Given the description of an element on the screen output the (x, y) to click on. 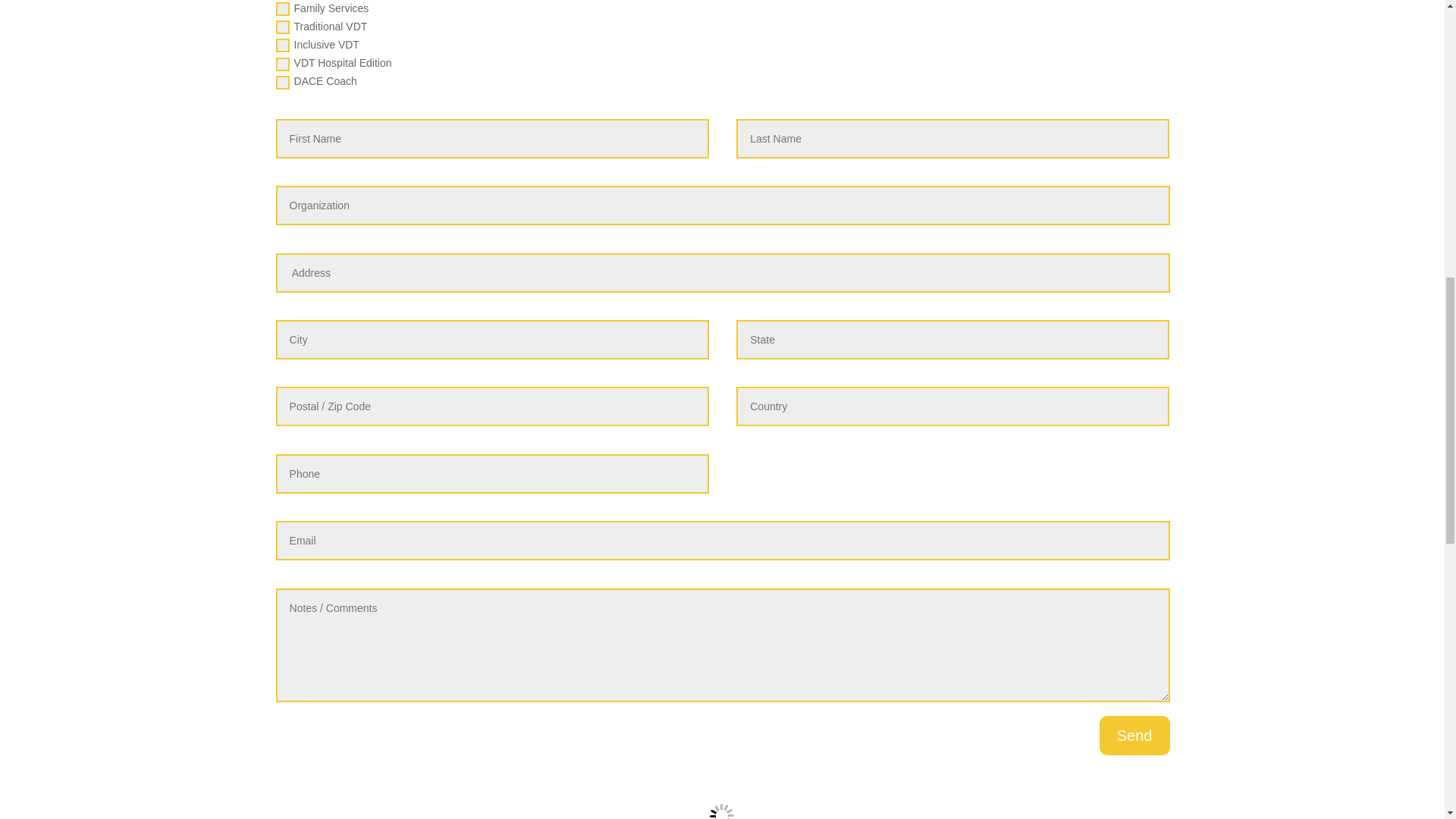
Screen Shot 2023-11-02 at 12.45.17 AM (721, 799)
Only numbers allowed. (492, 473)
